Given the description of an element on the screen output the (x, y) to click on. 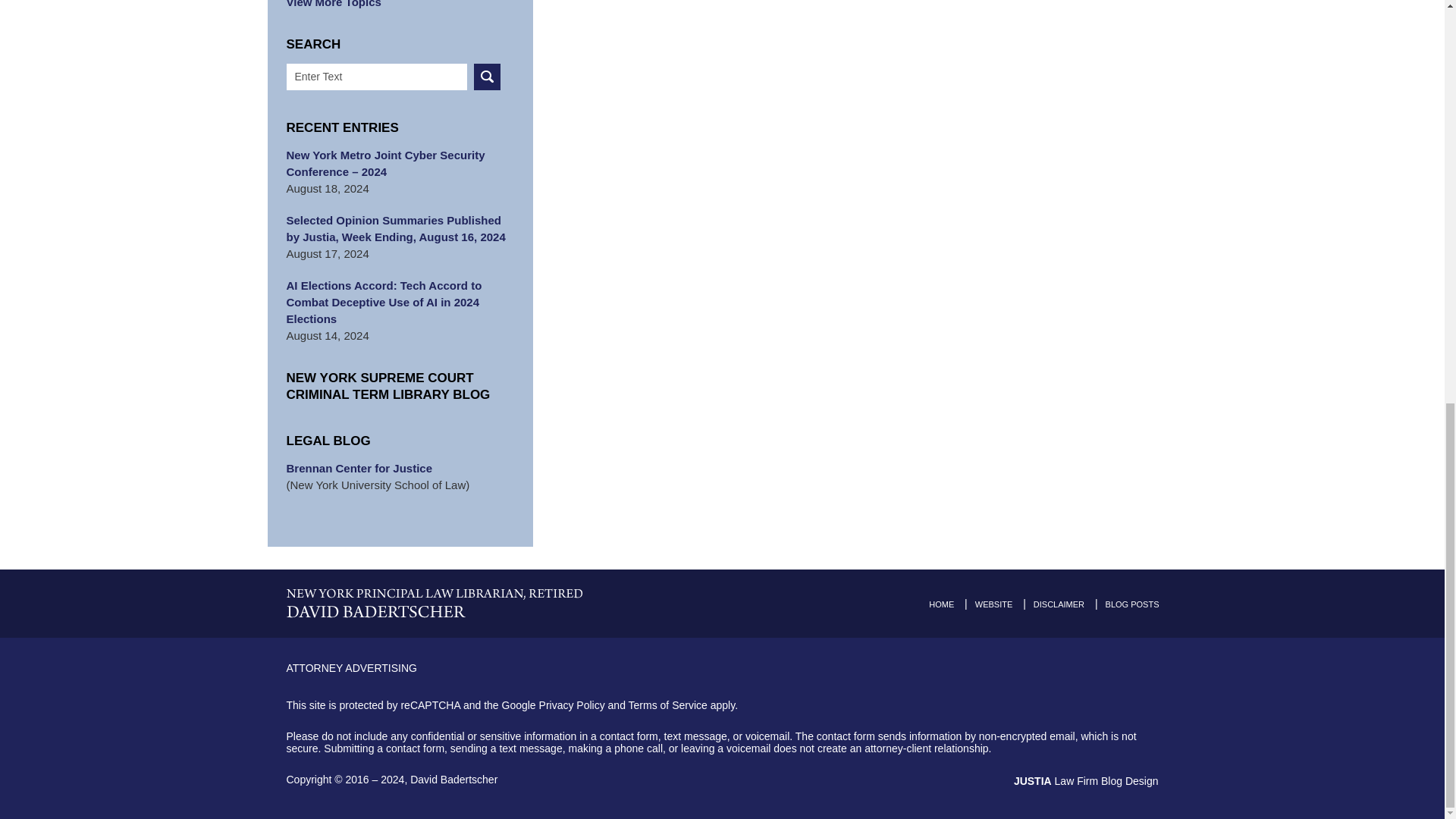
View More Topics (399, 5)
SEARCH (487, 76)
